Given the description of an element on the screen output the (x, y) to click on. 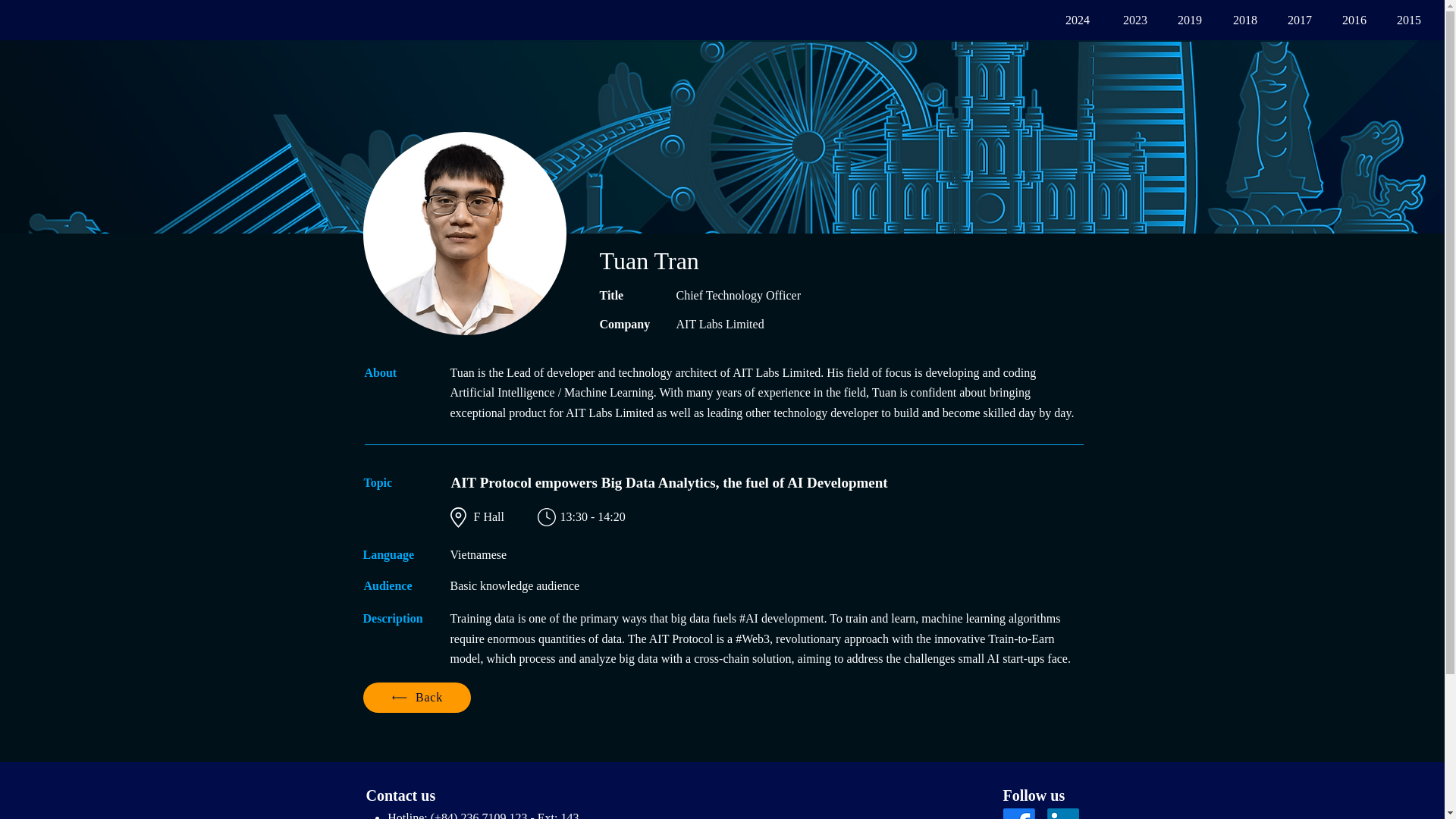
2023 (1125, 20)
Back (416, 697)
2024 (1067, 20)
Tuan Tran (464, 232)
2019 (1181, 20)
2017 (1292, 20)
2015 (1401, 20)
2018 (1237, 20)
2016 (1346, 20)
